Given the description of an element on the screen output the (x, y) to click on. 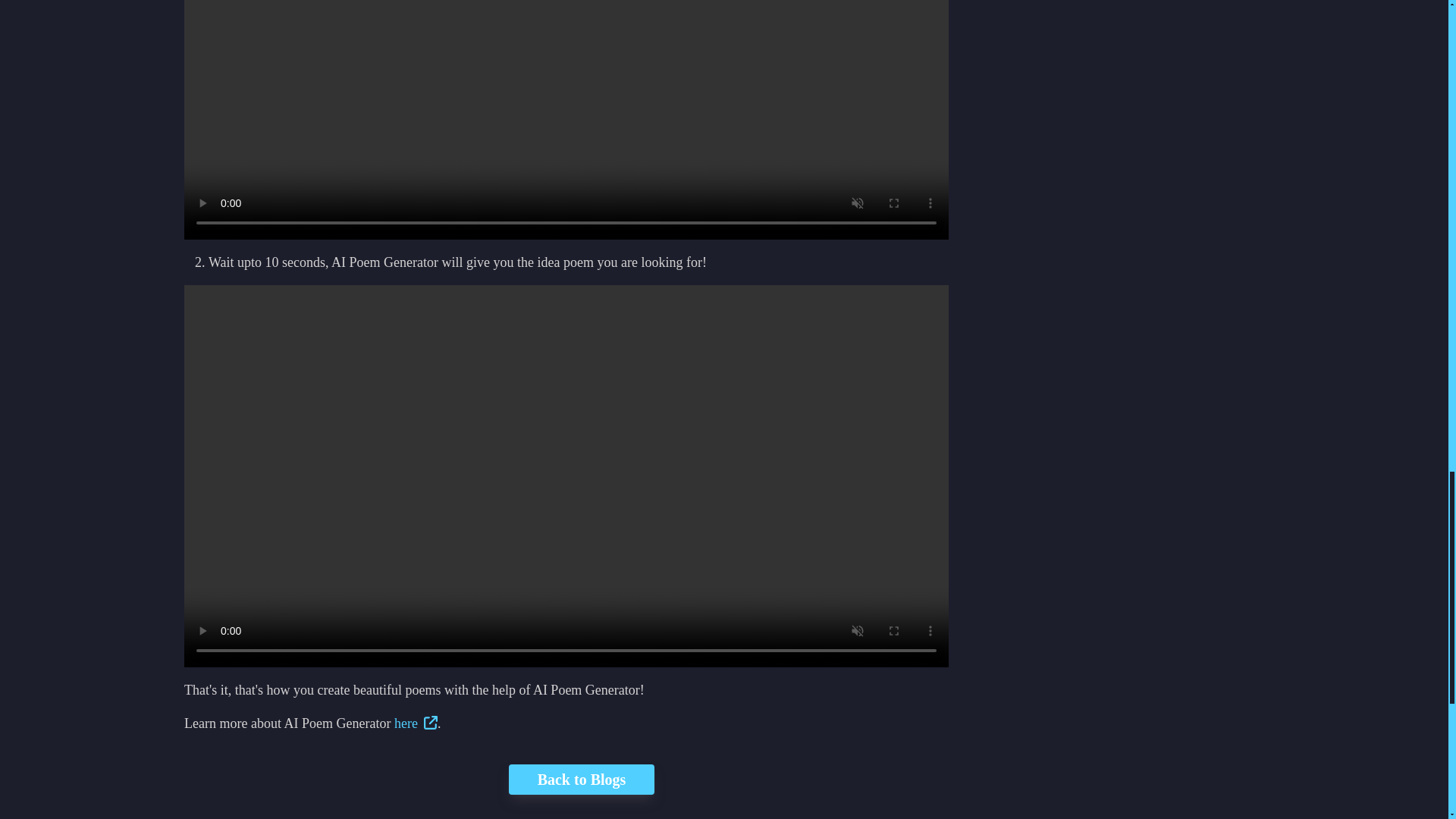
Back to Blogs (580, 779)
here (416, 723)
Back to Blogs (566, 779)
